Given the description of an element on the screen output the (x, y) to click on. 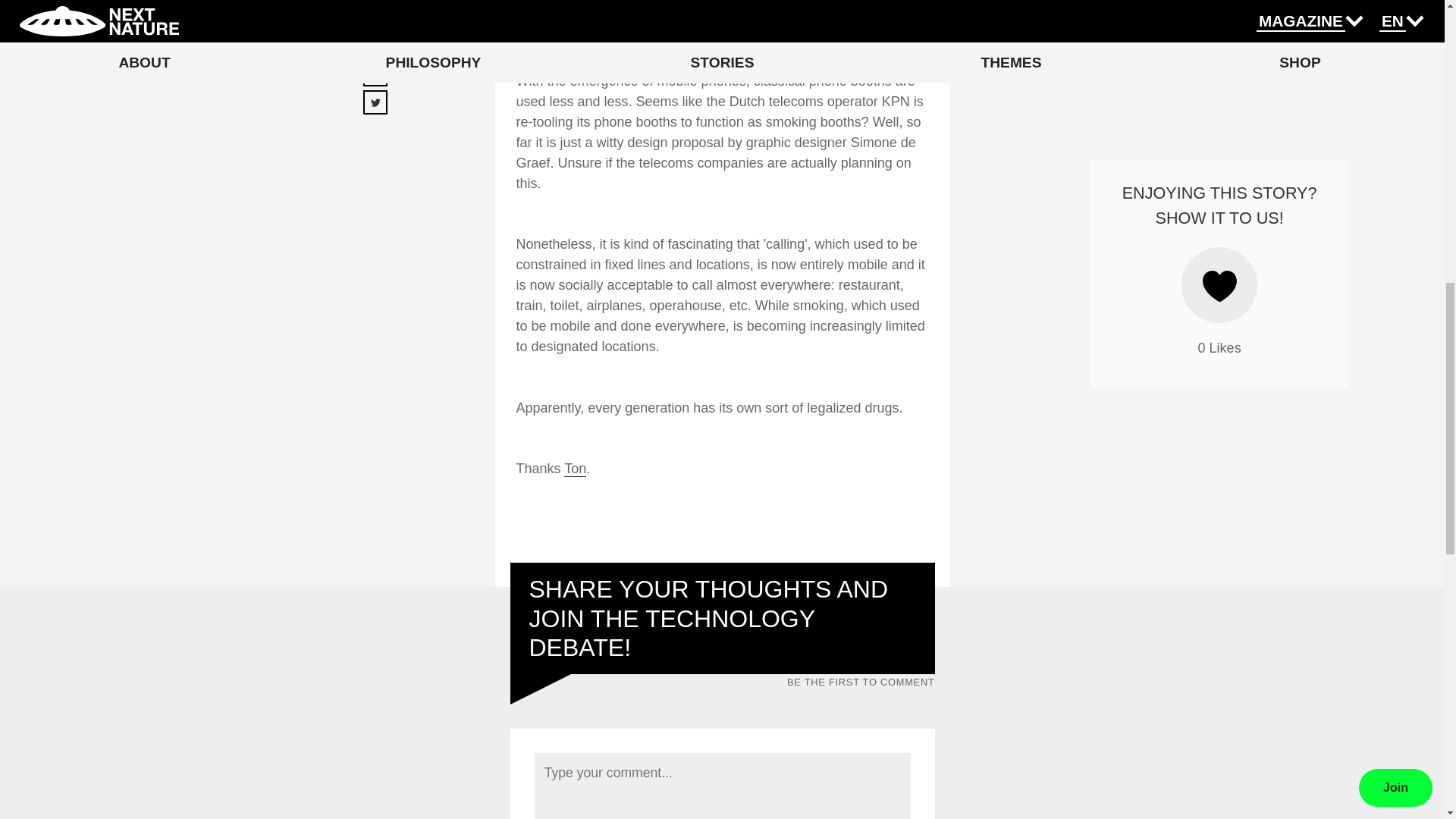
Ton Meijdam (575, 468)
LinkedIn (391, 82)
Facebook (395, 55)
Twitter (385, 110)
Ton (575, 468)
